Given the description of an element on the screen output the (x, y) to click on. 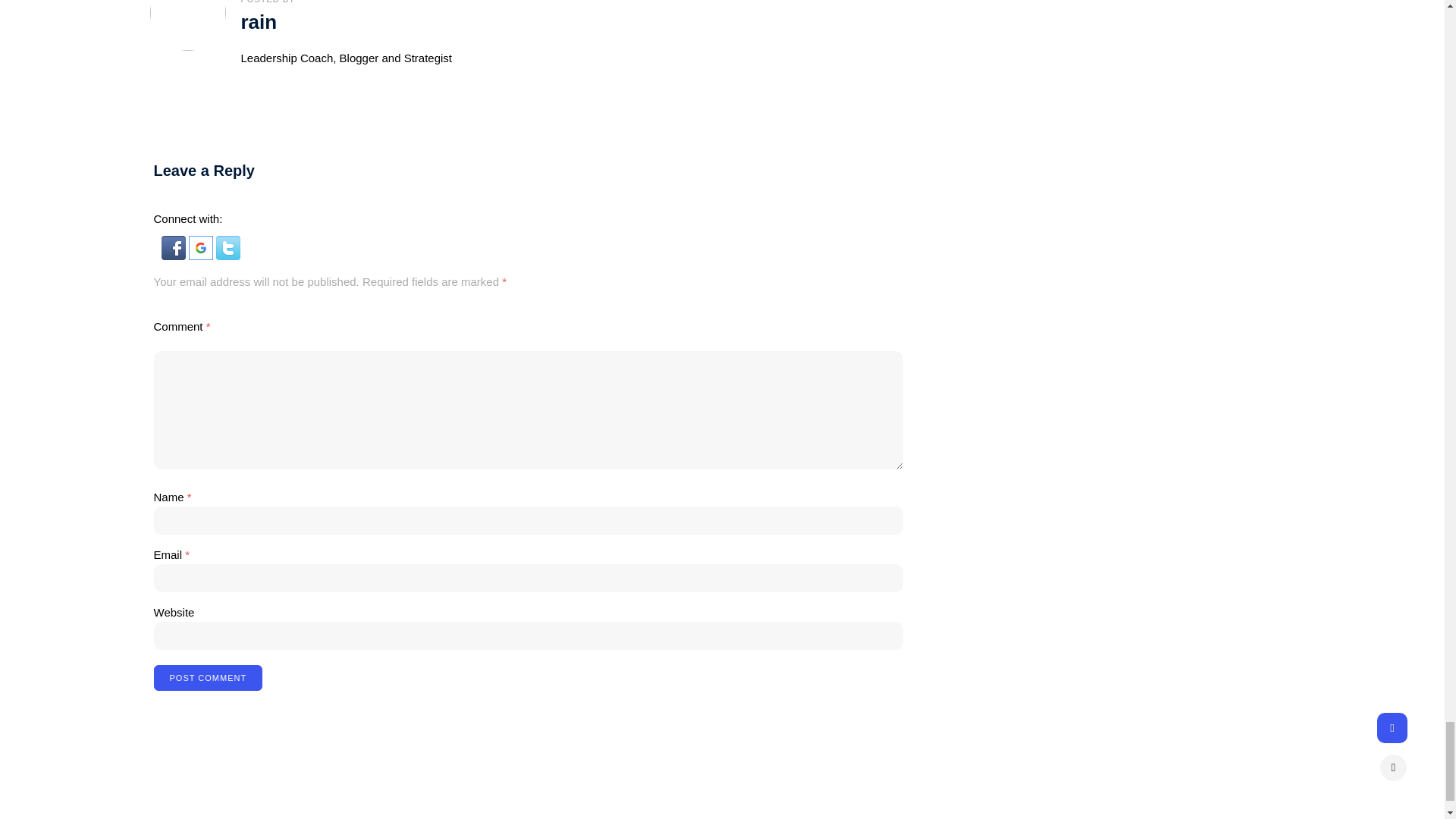
Connect with Twitter (227, 255)
Connect with Google (202, 255)
Connect with Facebook (173, 255)
rain (259, 21)
Post Comment (207, 678)
